Given the description of an element on the screen output the (x, y) to click on. 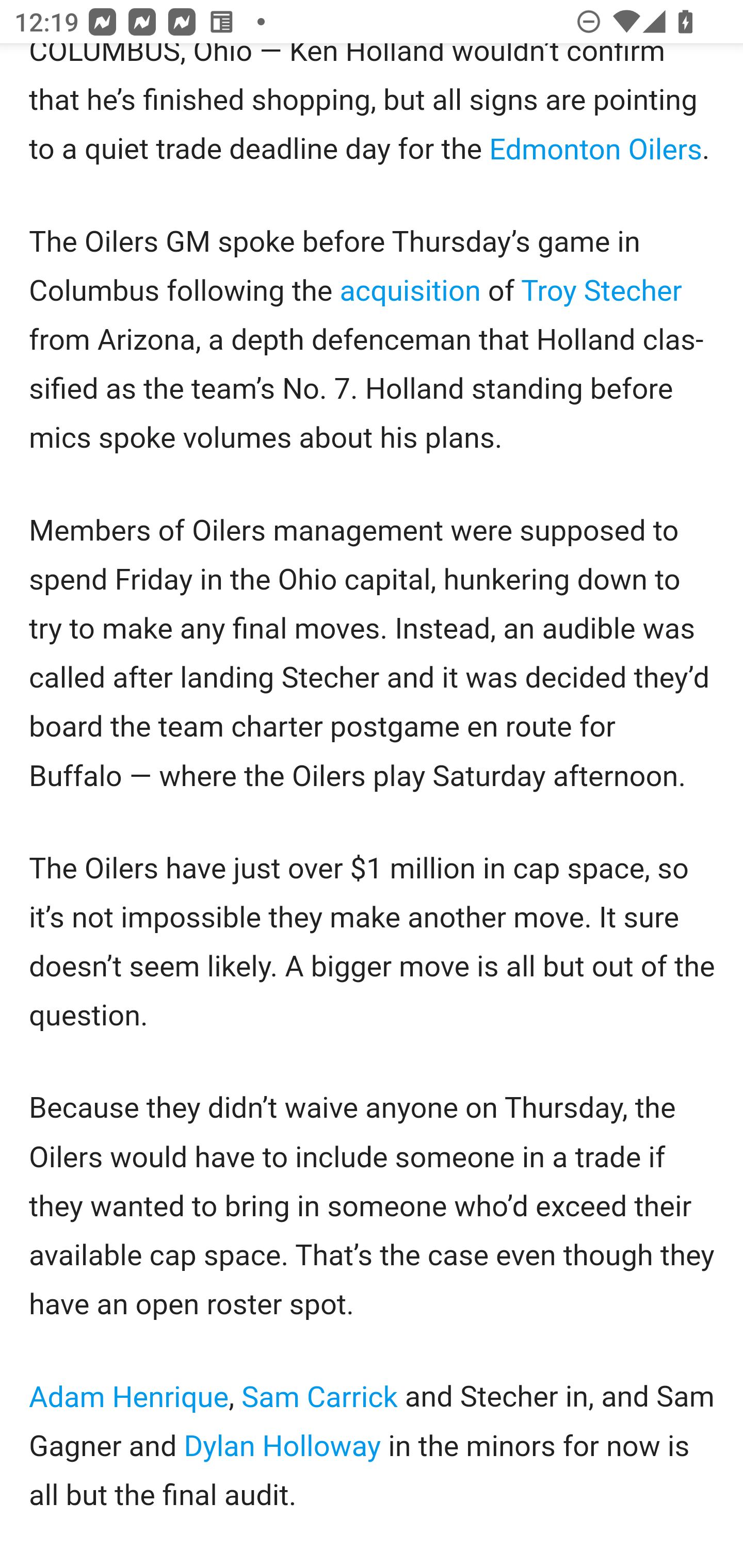
Edmonton Oilers (594, 150)
acquisition (410, 290)
Troy Stecher (601, 290)
Adam Henrique (128, 1396)
Sam Carrick (318, 1396)
Dylan Holloway (282, 1446)
